Given the description of an element on the screen output the (x, y) to click on. 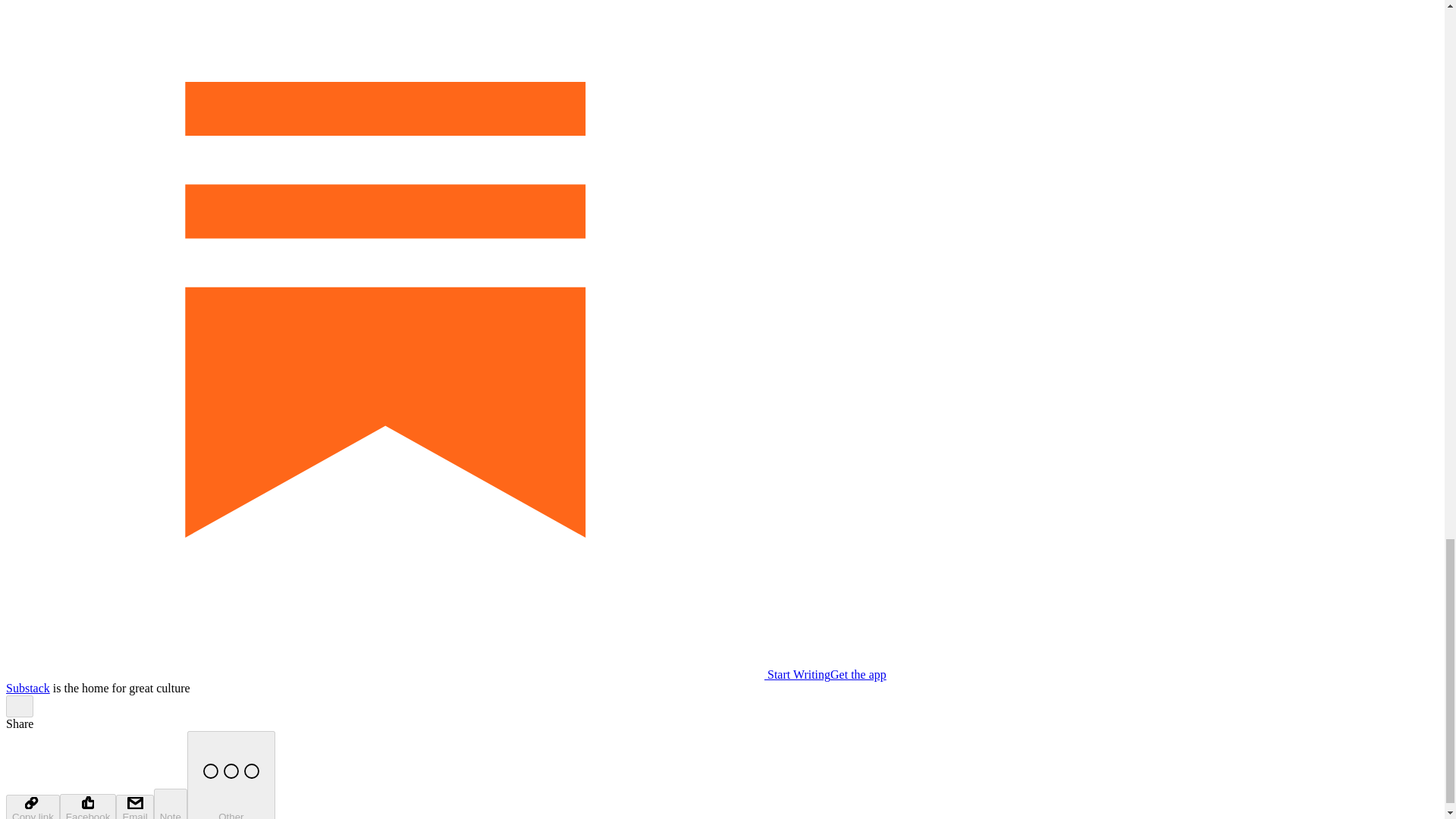
Start Writing (417, 674)
